Given the description of an element on the screen output the (x, y) to click on. 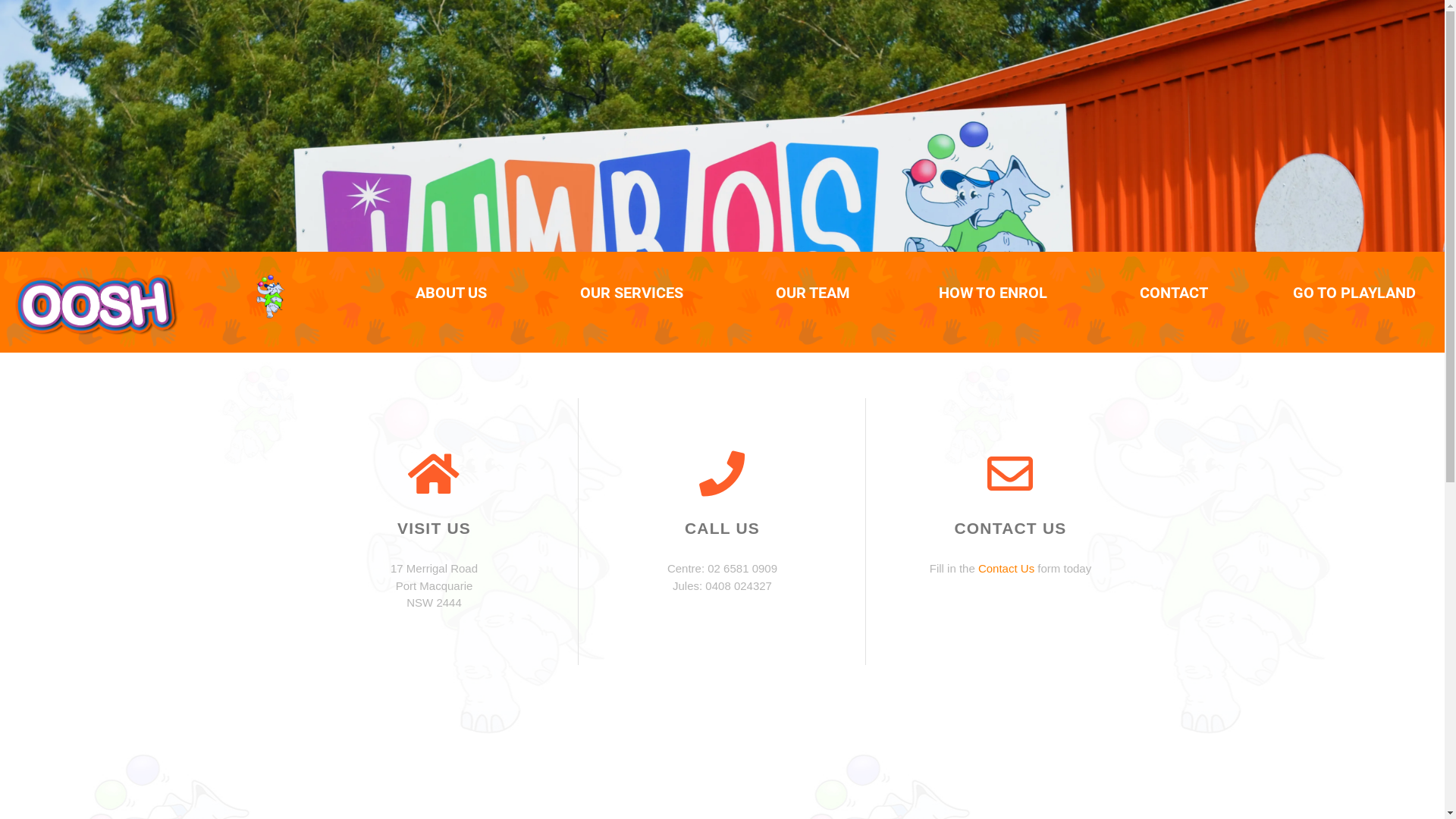
OUR SERVICES Element type: text (631, 292)
GO TO PLAYLAND Element type: text (1353, 292)
HOW TO ENROL Element type: text (992, 292)
CONTACT Element type: text (1173, 292)
ABOUT US Element type: text (450, 292)
OUR TEAM Element type: text (812, 292)
Contact Us Element type: text (1006, 567)
